Given the description of an element on the screen output the (x, y) to click on. 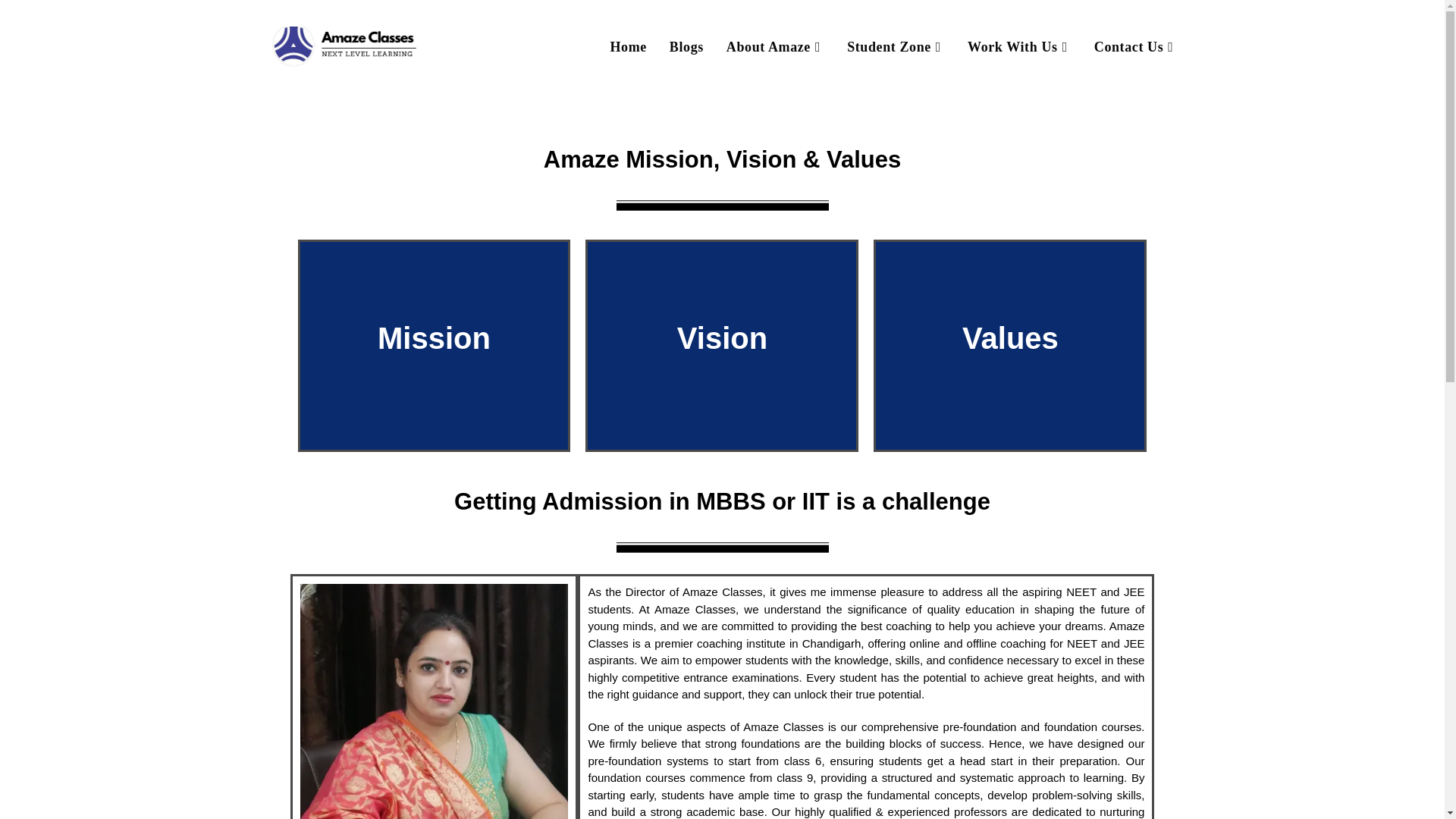
About Amaze (774, 47)
Contact Us (1136, 47)
Student Zone (895, 47)
Work With Us (1019, 47)
